Given the description of an element on the screen output the (x, y) to click on. 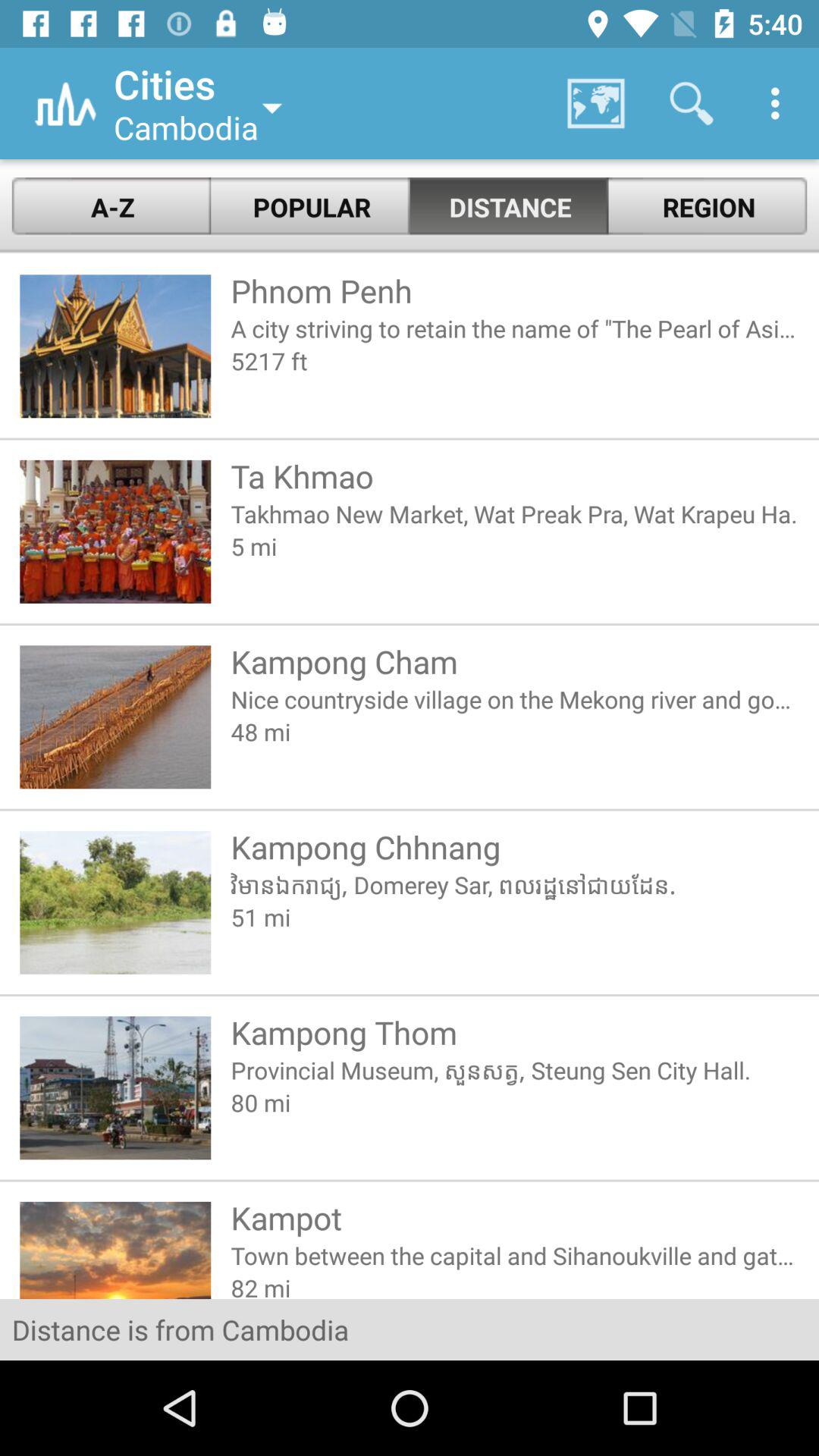
click item above the 48 mi icon (514, 699)
